Given the description of an element on the screen output the (x, y) to click on. 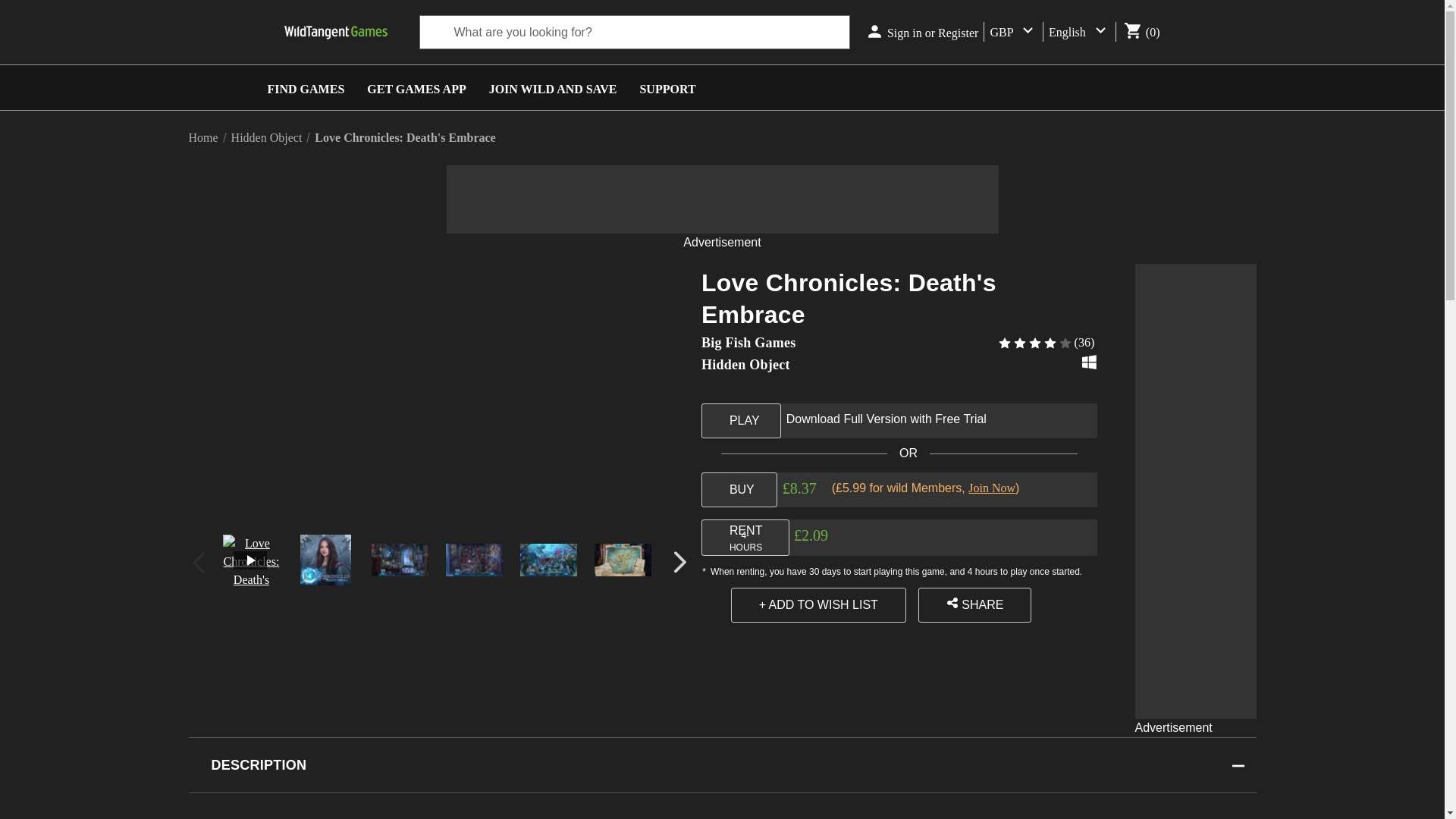
Register (957, 33)
Love Chronicles: Death's Embrace (622, 559)
Sign in (903, 33)
English (1079, 31)
product quick search (633, 32)
WildTangent Games (334, 32)
Love Chronicles: Death's Embrace (547, 559)
Love Chronicles: Death's Embrace (473, 559)
GBP (1013, 31)
Love Chronicles: Death's Embrace (325, 559)
Love Chronicles: Death's Embrace (399, 559)
